Given the description of an element on the screen output the (x, y) to click on. 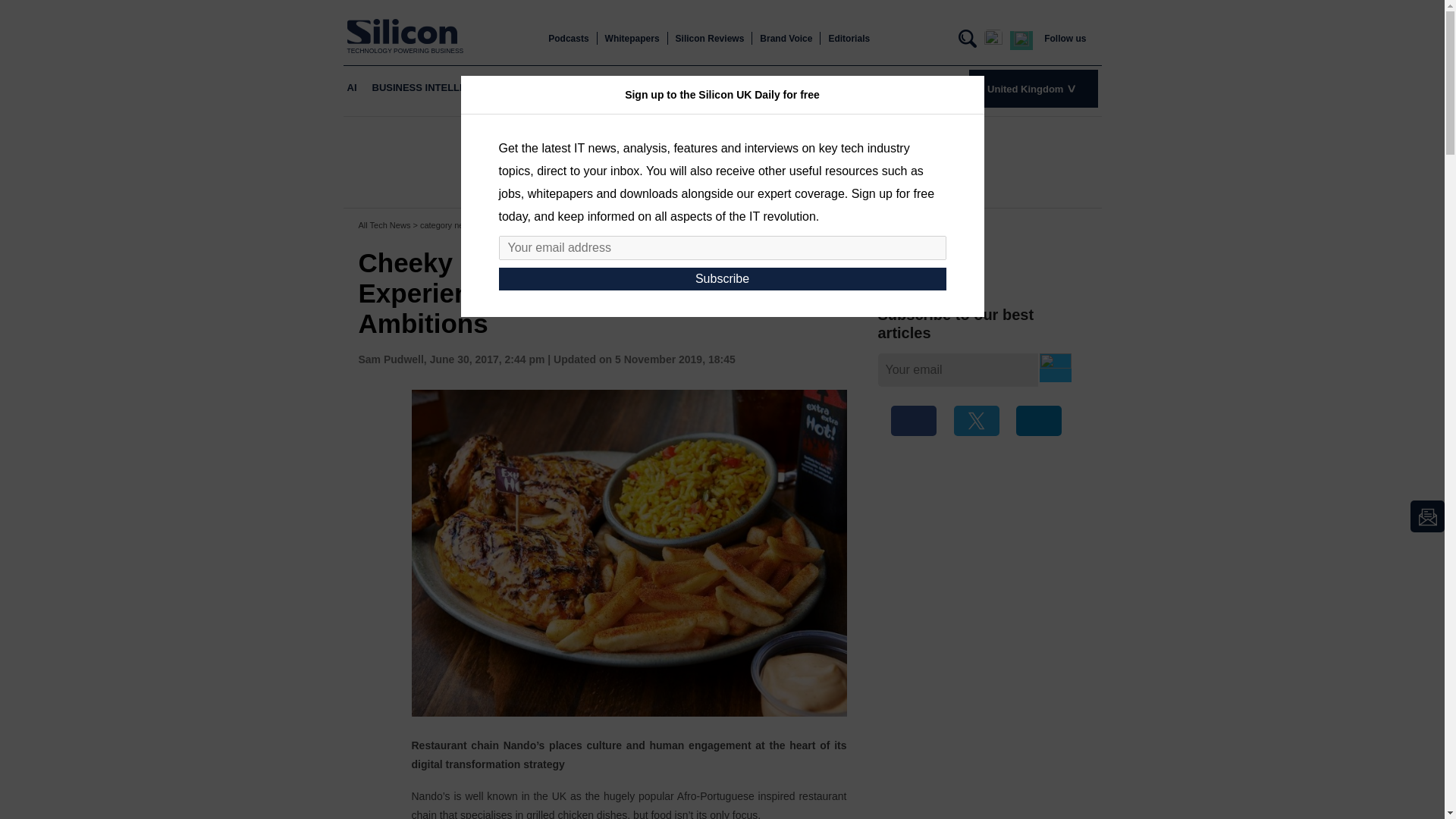
Whitepapers (632, 38)
Podcasts (568, 38)
Silicon UK (405, 31)
United Kingdom (1033, 88)
Follow us (1064, 38)
MARKETING (782, 87)
CLOUD (529, 87)
Editorials (848, 38)
SECURITY (853, 87)
DIGITAL TRANSFORMATION (629, 87)
Silicon Reviews (709, 38)
DATA (724, 87)
Brand Voice (786, 38)
BUSINESS INTELLIGENCE (434, 87)
